Given the description of an element on the screen output the (x, y) to click on. 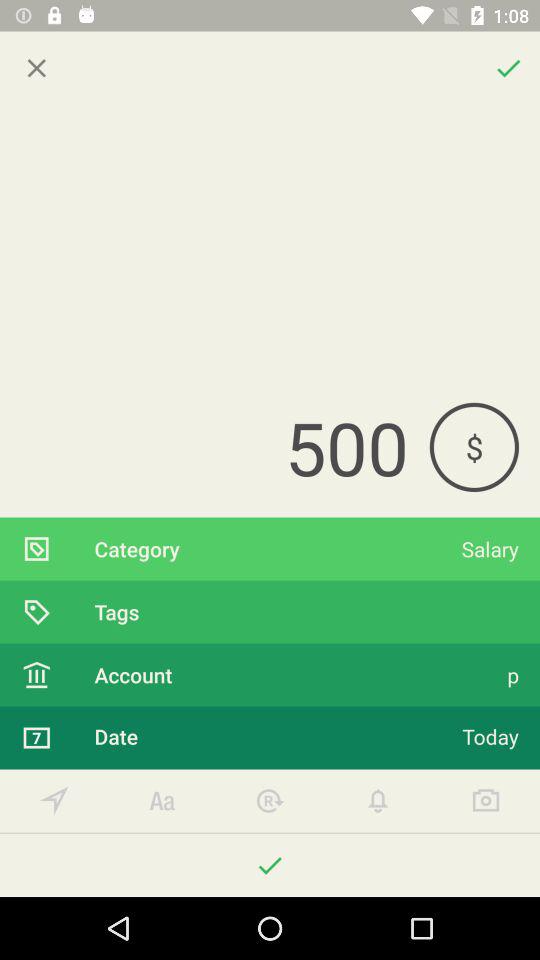
turn on $ icon (474, 446)
